Given the description of an element on the screen output the (x, y) to click on. 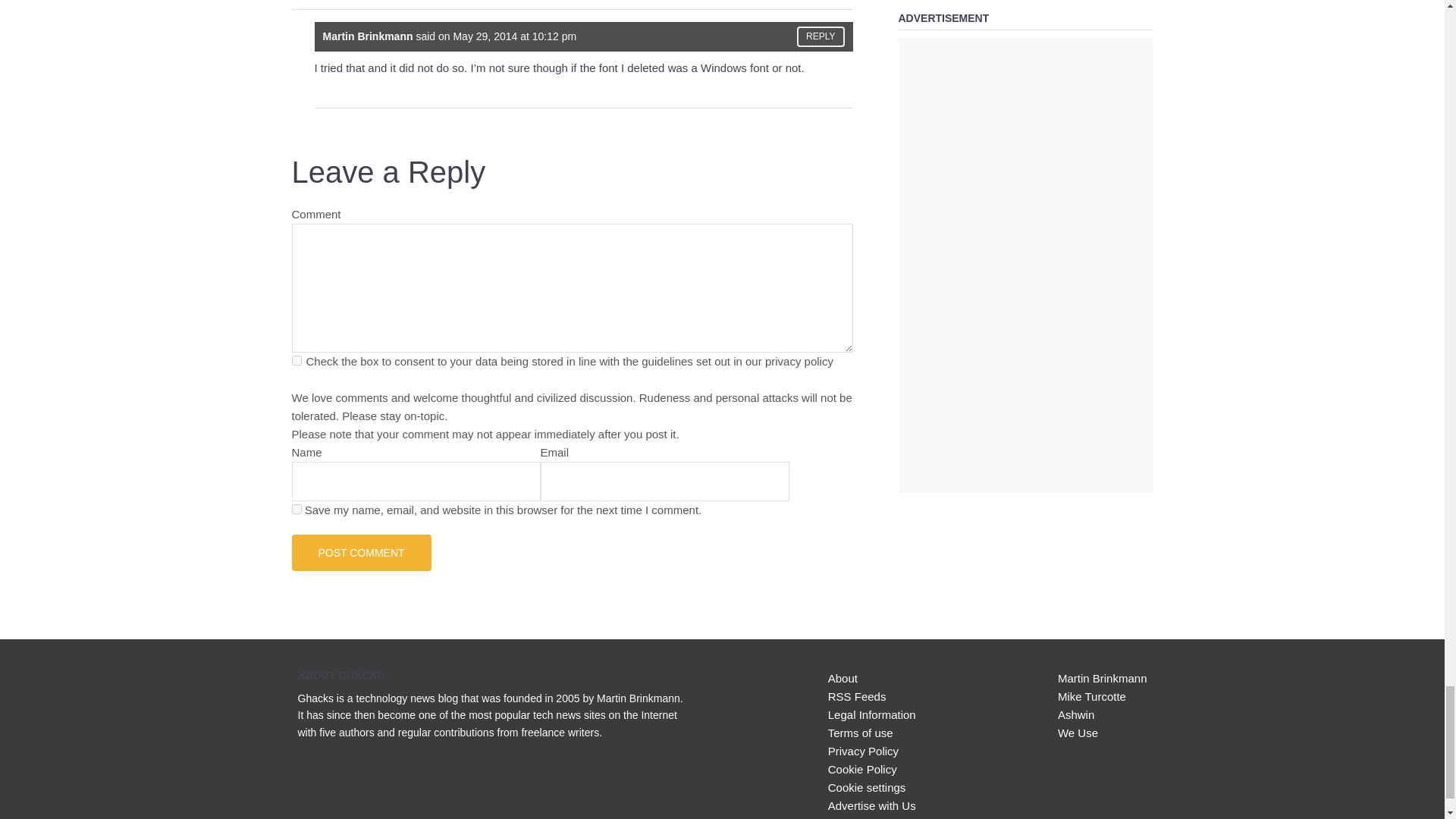
Post Comment (360, 552)
privacy-key (296, 360)
yes (296, 509)
